Given the description of an element on the screen output the (x, y) to click on. 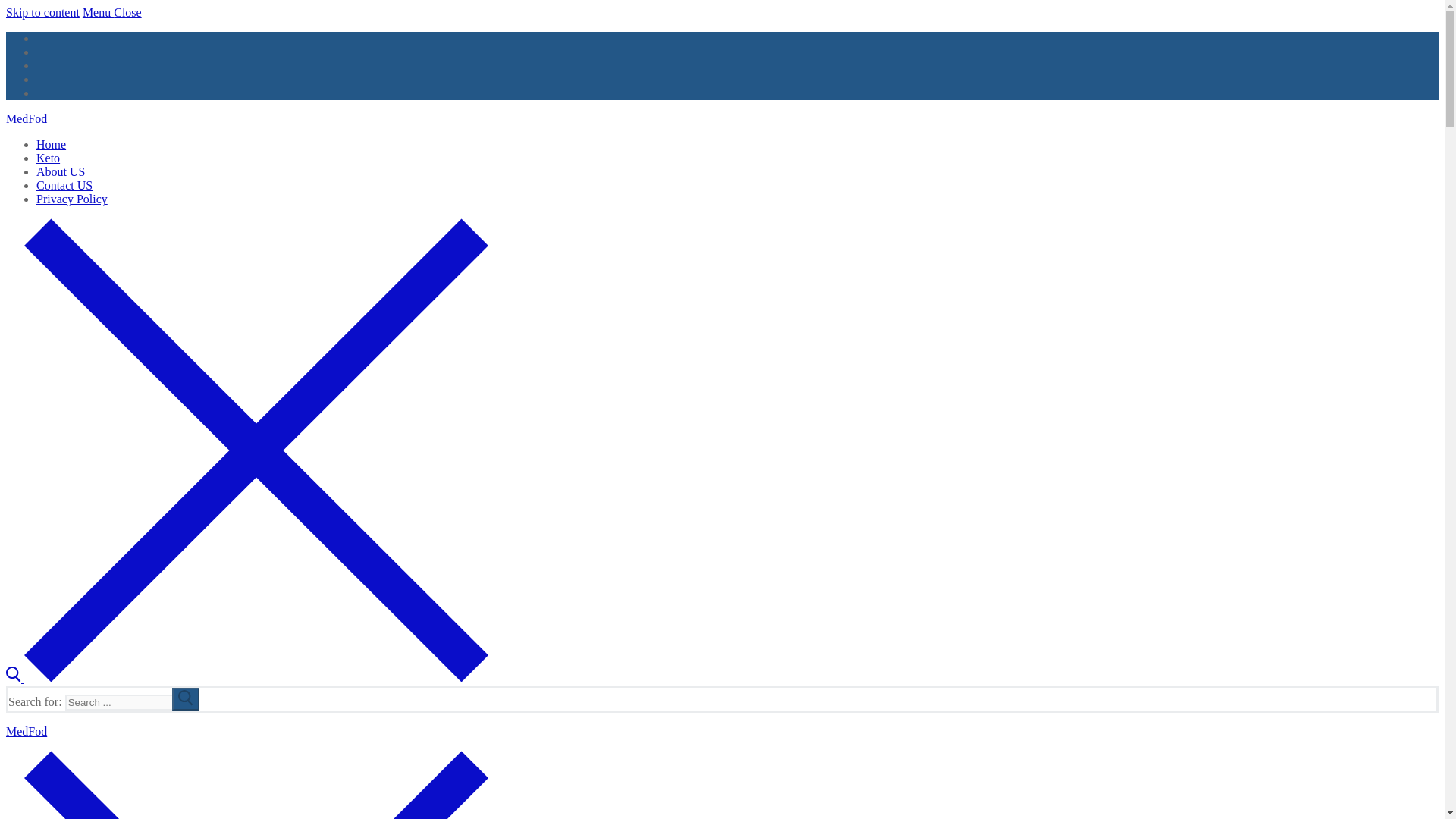
Search for: (132, 702)
Skip to content (42, 11)
About US (60, 171)
Home (50, 144)
Contact US (64, 185)
Menu Close (111, 11)
MedFod (25, 118)
Privacy Policy (71, 198)
MedFod (25, 730)
Keto (47, 157)
